Given the description of an element on the screen output the (x, y) to click on. 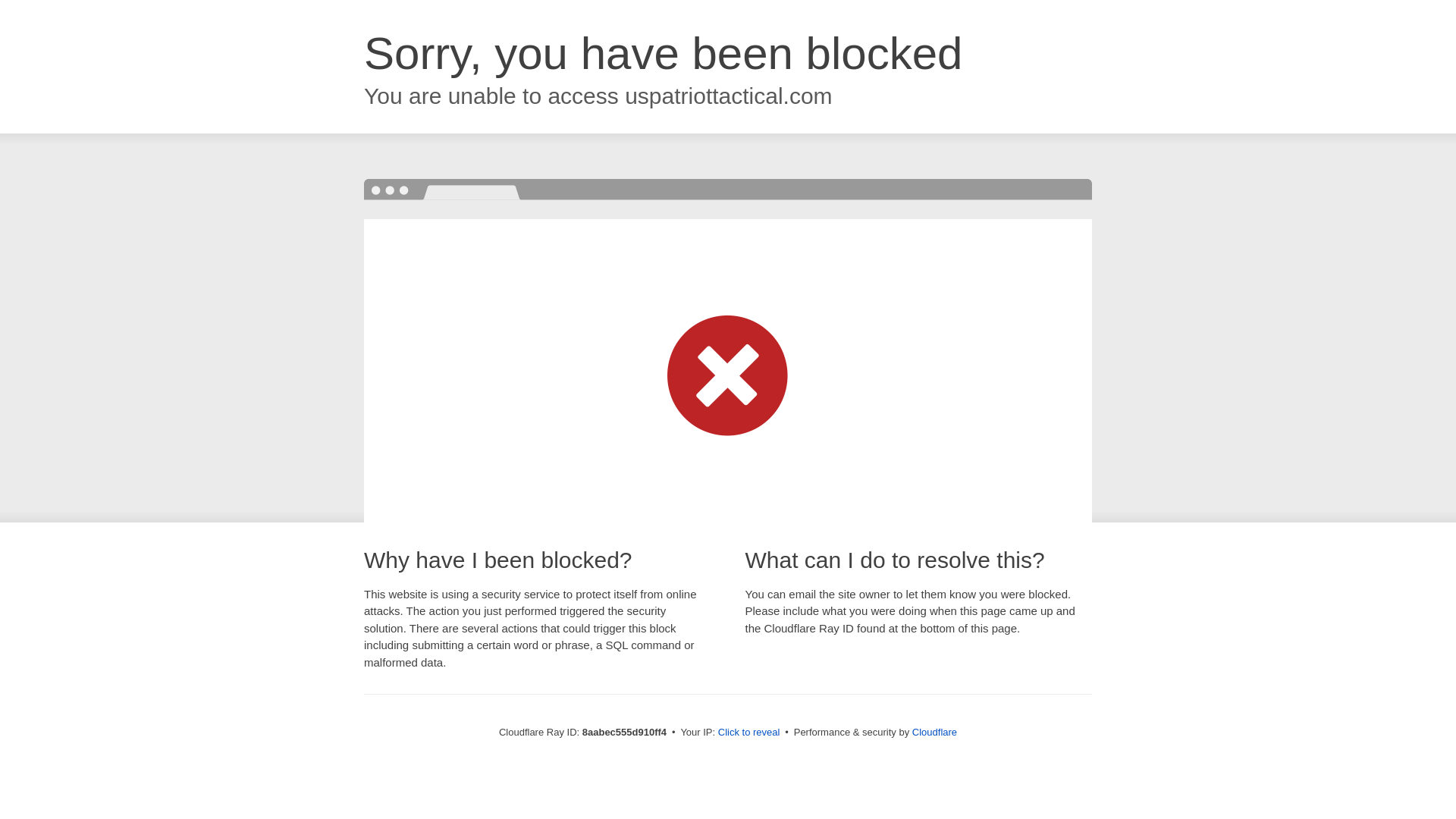
Click to reveal (748, 732)
Cloudflare (934, 731)
